Given the description of an element on the screen output the (x, y) to click on. 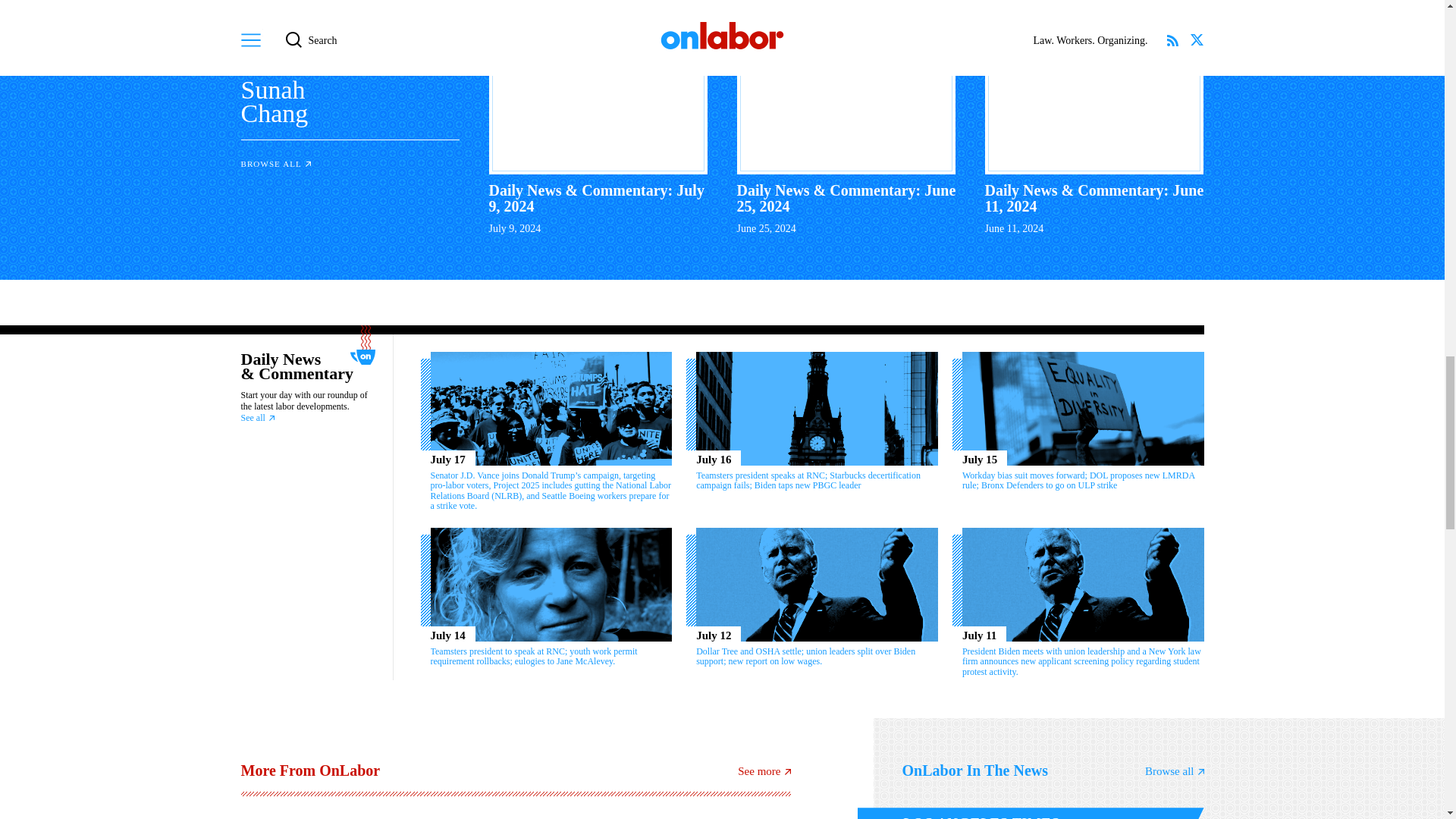
BROWSE ALL (276, 163)
See all (258, 417)
